Given the description of an element on the screen output the (x, y) to click on. 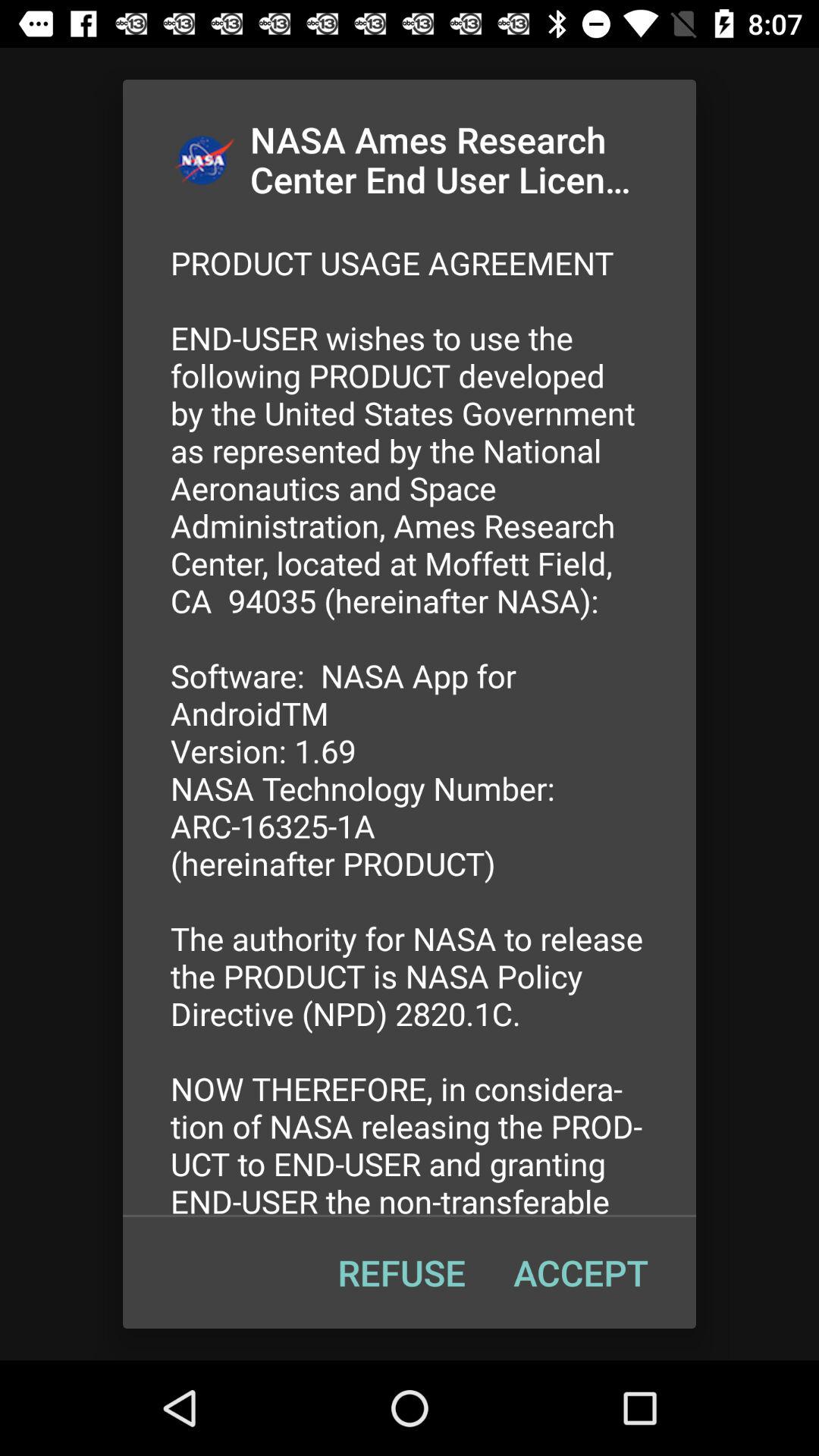
click refuse icon (401, 1272)
